Given the description of an element on the screen output the (x, y) to click on. 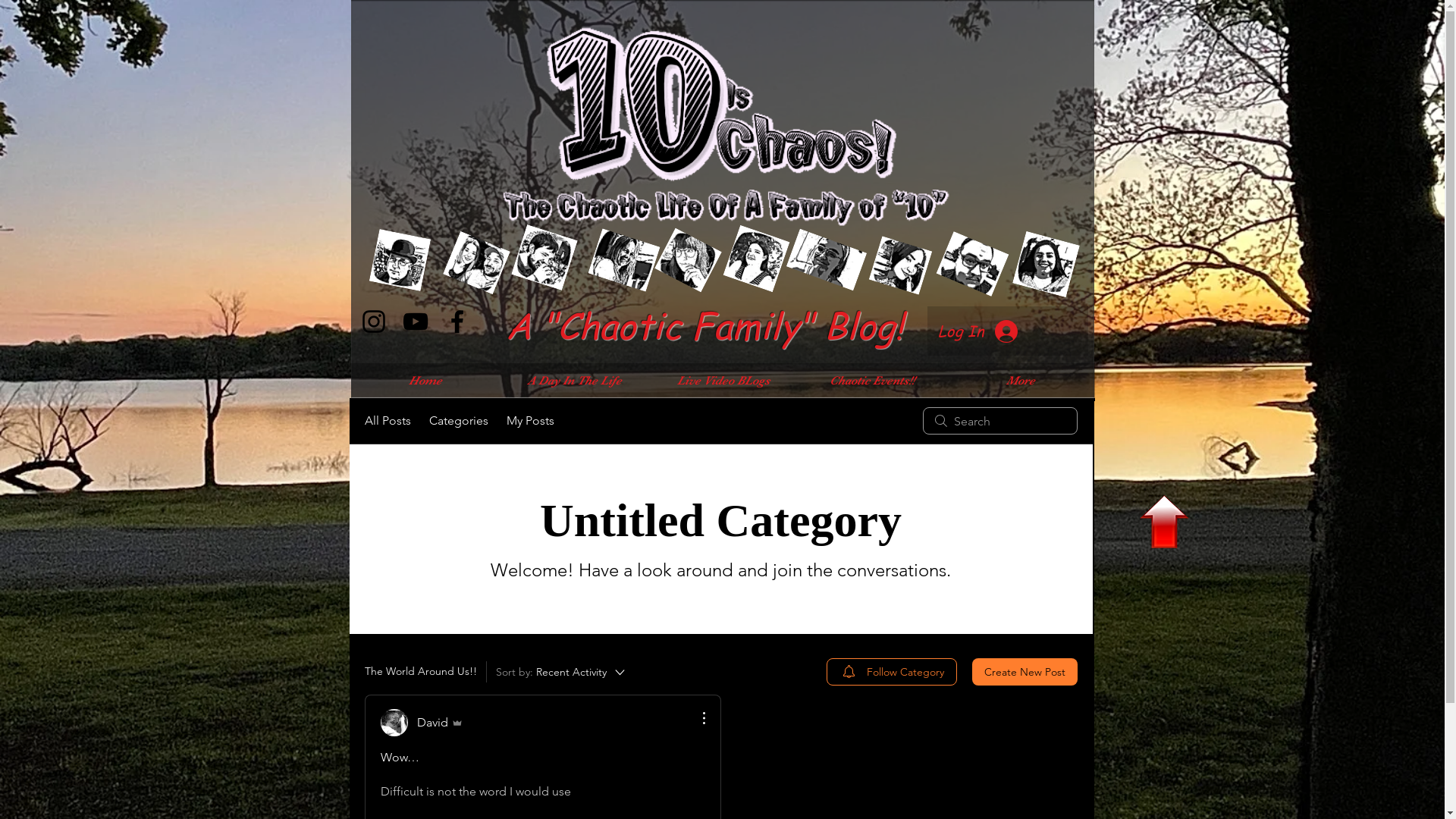
Sort by:
 Recent Activity Element type: text (561, 671)
Create New Post Element type: text (1024, 671)
Home Element type: text (424, 380)
A Day In The Life Element type: text (574, 380)
Difficult is not the word I would use Element type: text (542, 792)
All Posts Element type: text (387, 420)
Chaotic Events!! Element type: text (871, 380)
Log In Element type: text (976, 331)
Follow Category Element type: text (891, 671)
My Posts Element type: text (530, 420)
Categories Element type: text (458, 420)
David Element type: text (421, 722)
Live Video BLogs Element type: text (723, 380)
